Given the description of an element on the screen output the (x, y) to click on. 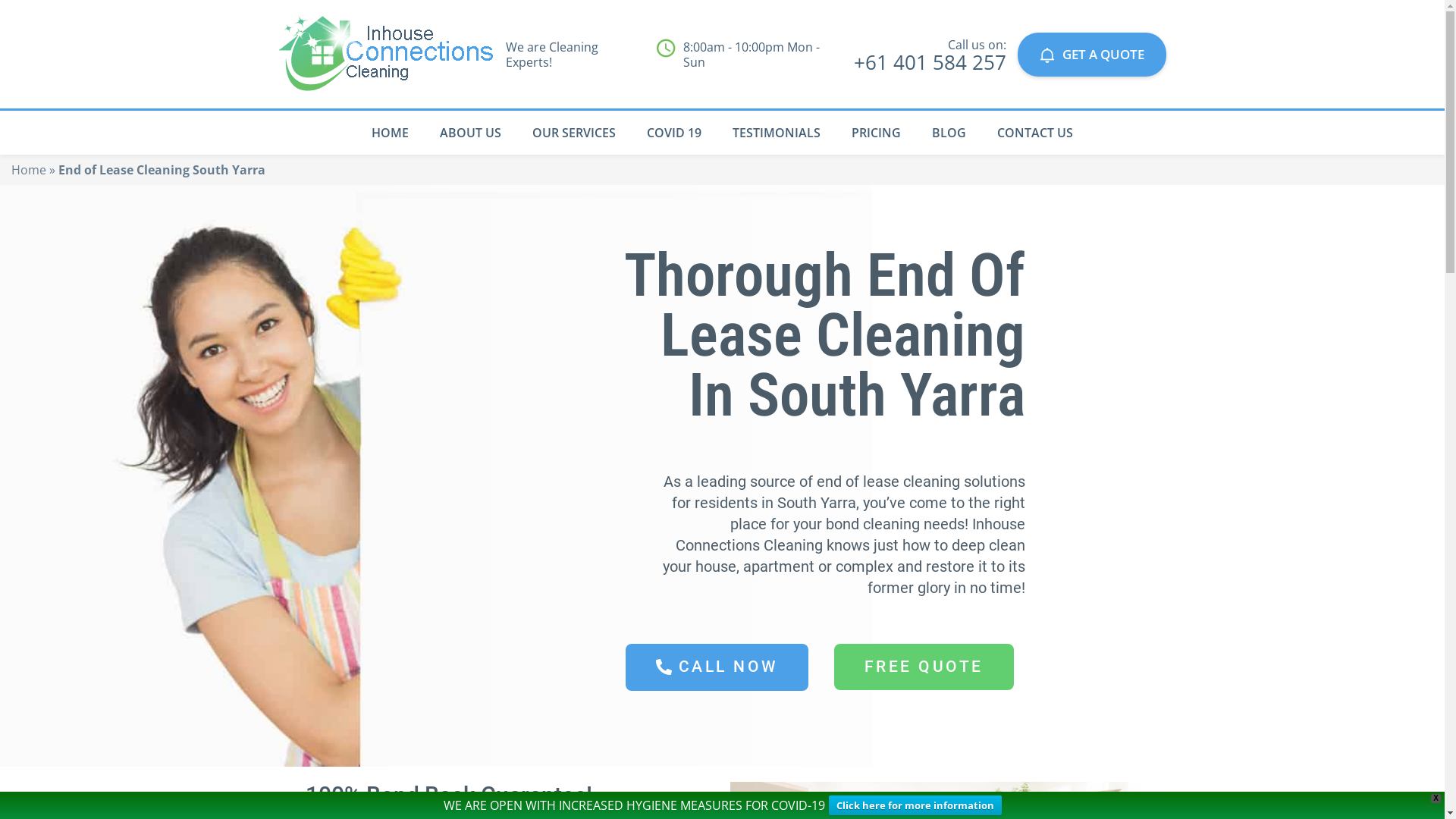
CALL NOW Element type: text (716, 666)
COVID 19 Element type: text (673, 132)
Click here for more information Element type: text (914, 805)
BLOG Element type: text (949, 132)
HOME Element type: text (388, 132)
OUR SERVICES Element type: text (572, 132)
GET A QUOTE Element type: text (1091, 53)
ABOUT US Element type: text (469, 132)
CONTACT US Element type: text (1035, 132)
Home Element type: text (28, 169)
TESTIMONIALS Element type: text (775, 132)
PRICING Element type: text (875, 132)
FREE QUOTE Element type: text (923, 666)
